Given the description of an element on the screen output the (x, y) to click on. 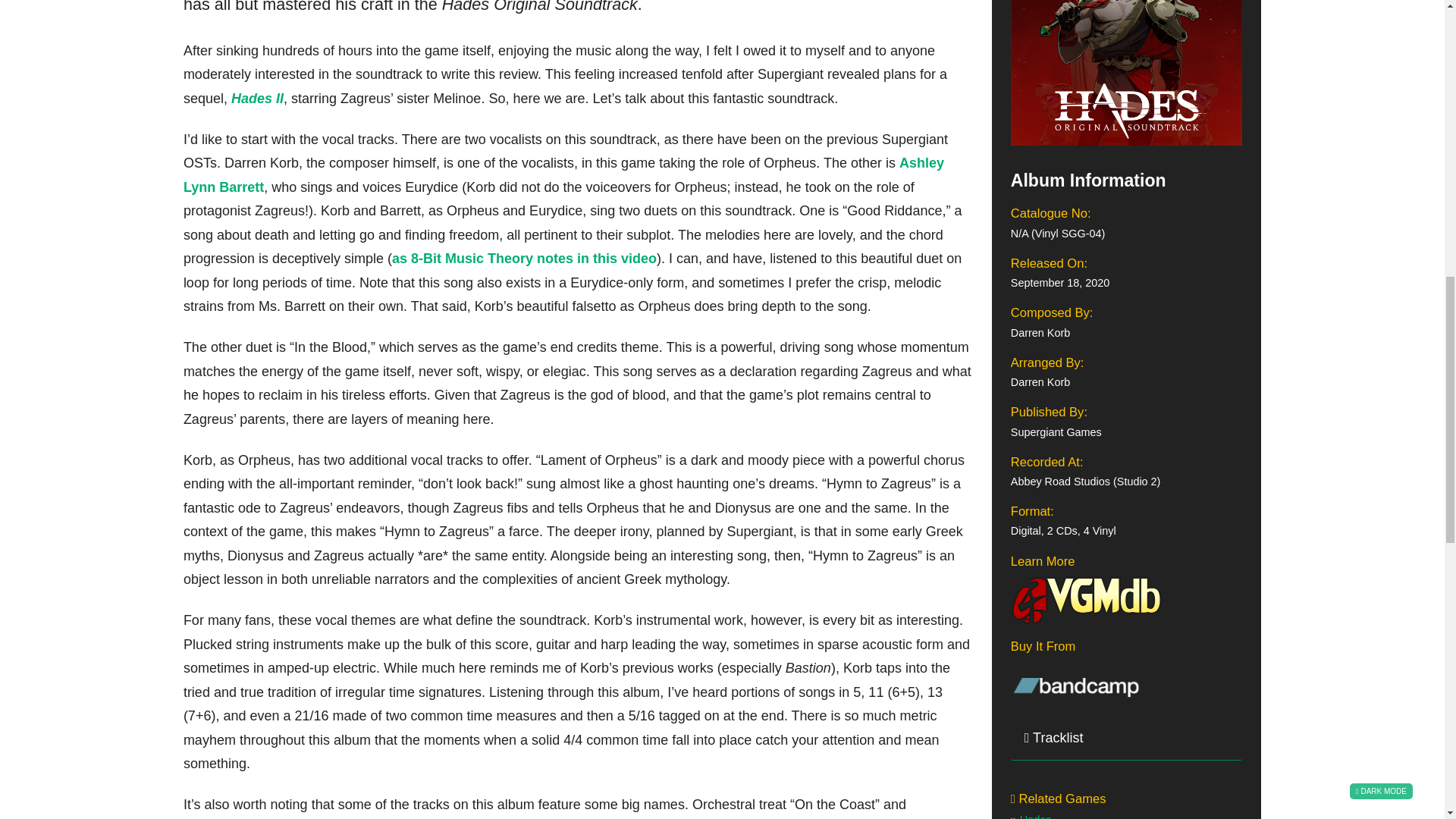
Tracklist (1125, 738)
as 8-Bit Music Theory notes in this video (523, 258)
Hades II (257, 98)
Ashley Lynn Barrett (563, 174)
Hades (1035, 816)
